Given the description of an element on the screen output the (x, y) to click on. 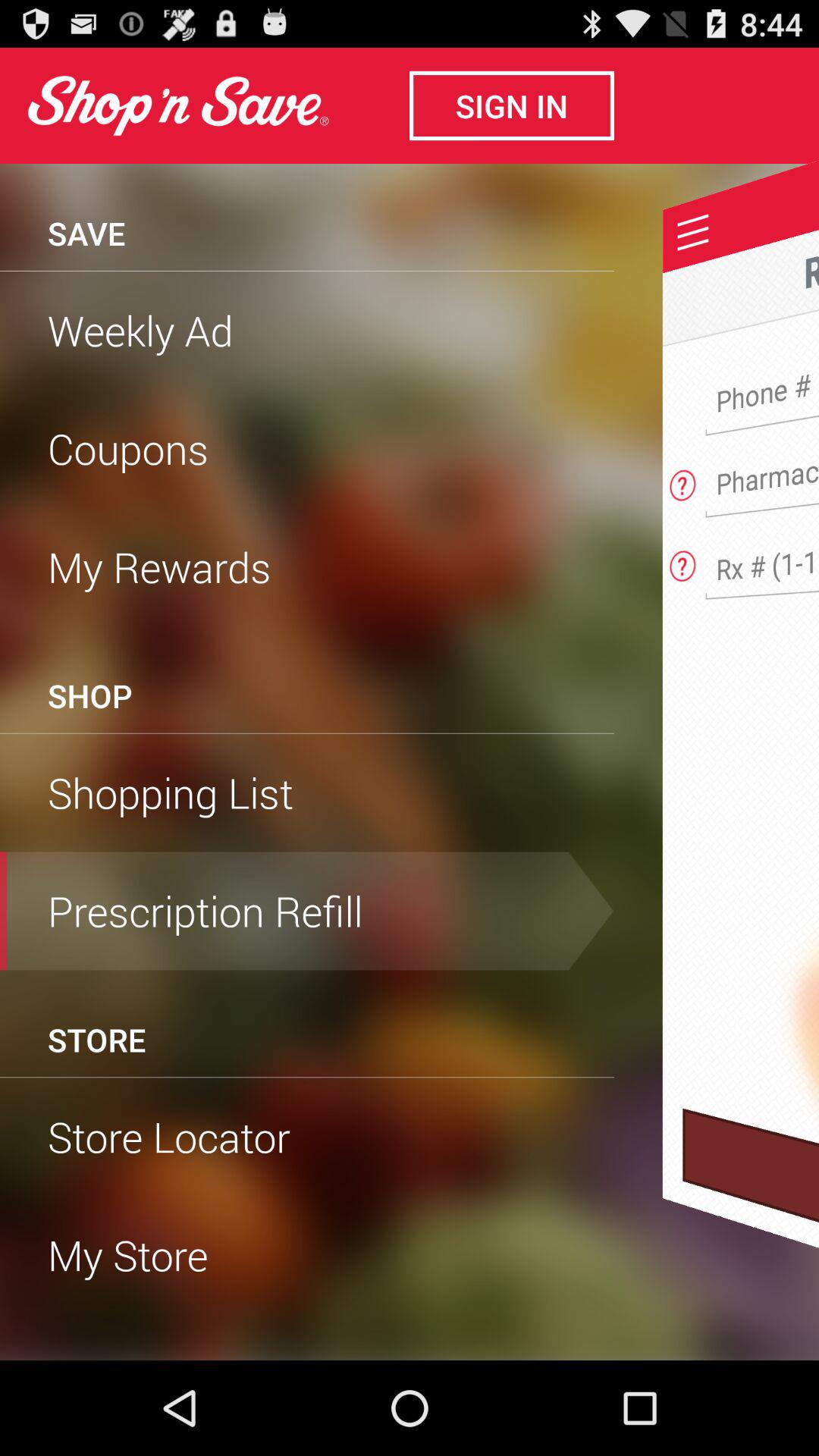
enter prescription number (767, 559)
